Given the description of an element on the screen output the (x, y) to click on. 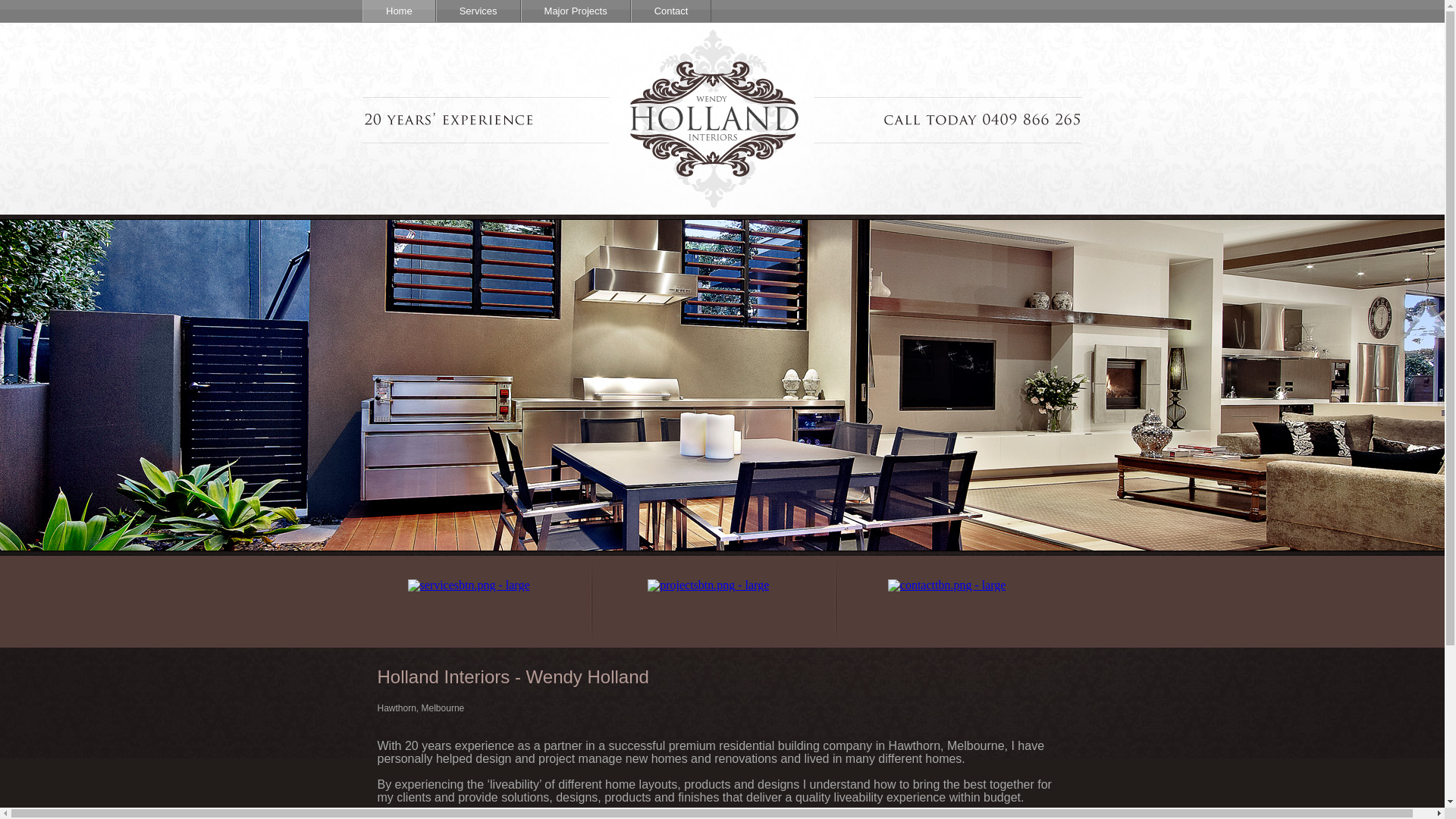
Services Element type: text (477, 10)
Contact Element type: text (670, 10)
Major Projects Element type: text (574, 10)
Prev Element type: text (401, 586)
Home Element type: text (398, 10)
Next Element type: text (1043, 586)
